Given the description of an element on the screen output the (x, y) to click on. 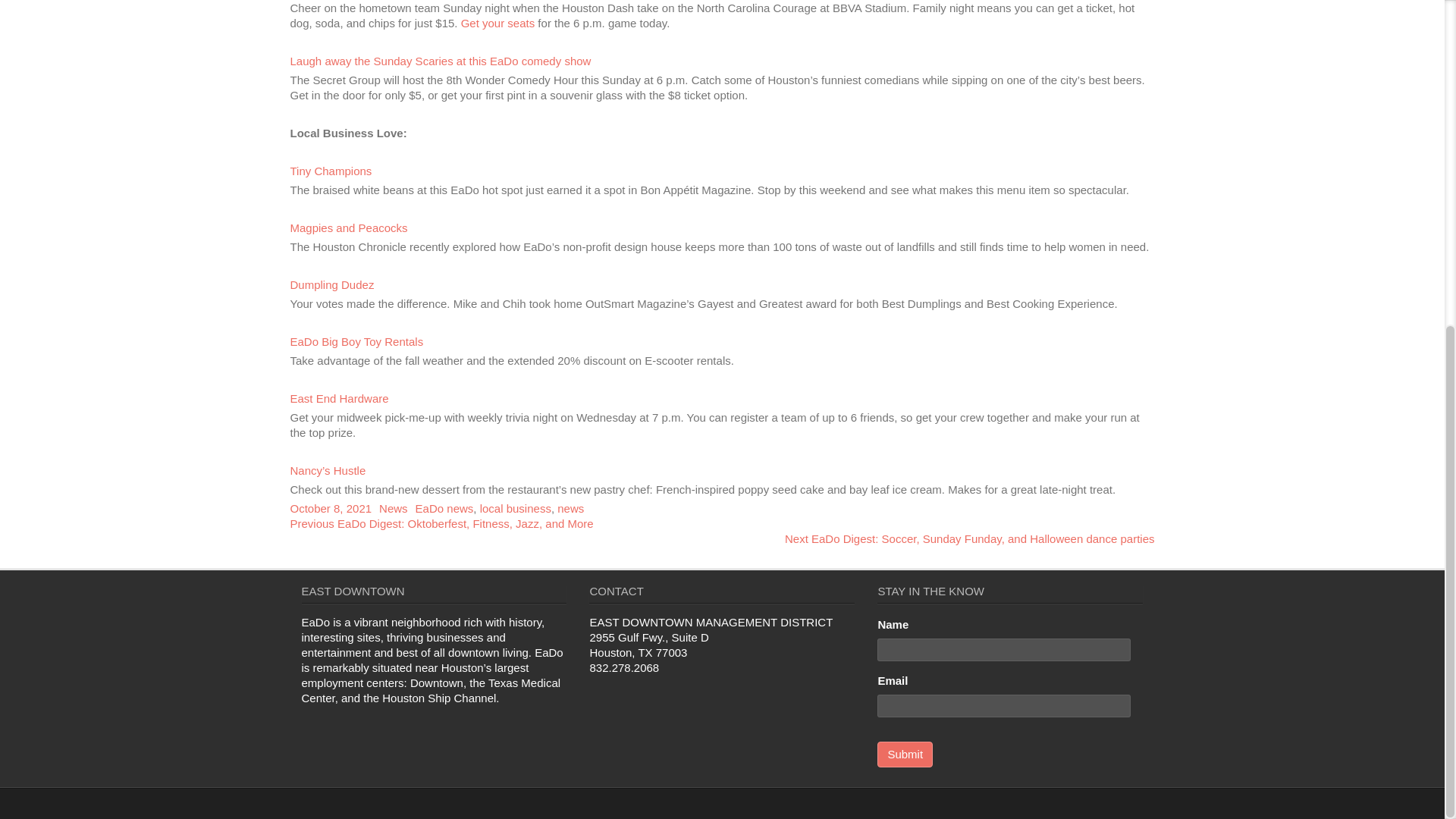
local business (440, 522)
EaDo Big Boy Toy Rentals (515, 508)
EaDo news (356, 341)
Magpies and Peacocks (444, 508)
East End Hardware (348, 227)
Submit (338, 398)
Submit (905, 754)
news (905, 754)
